Given the description of an element on the screen output the (x, y) to click on. 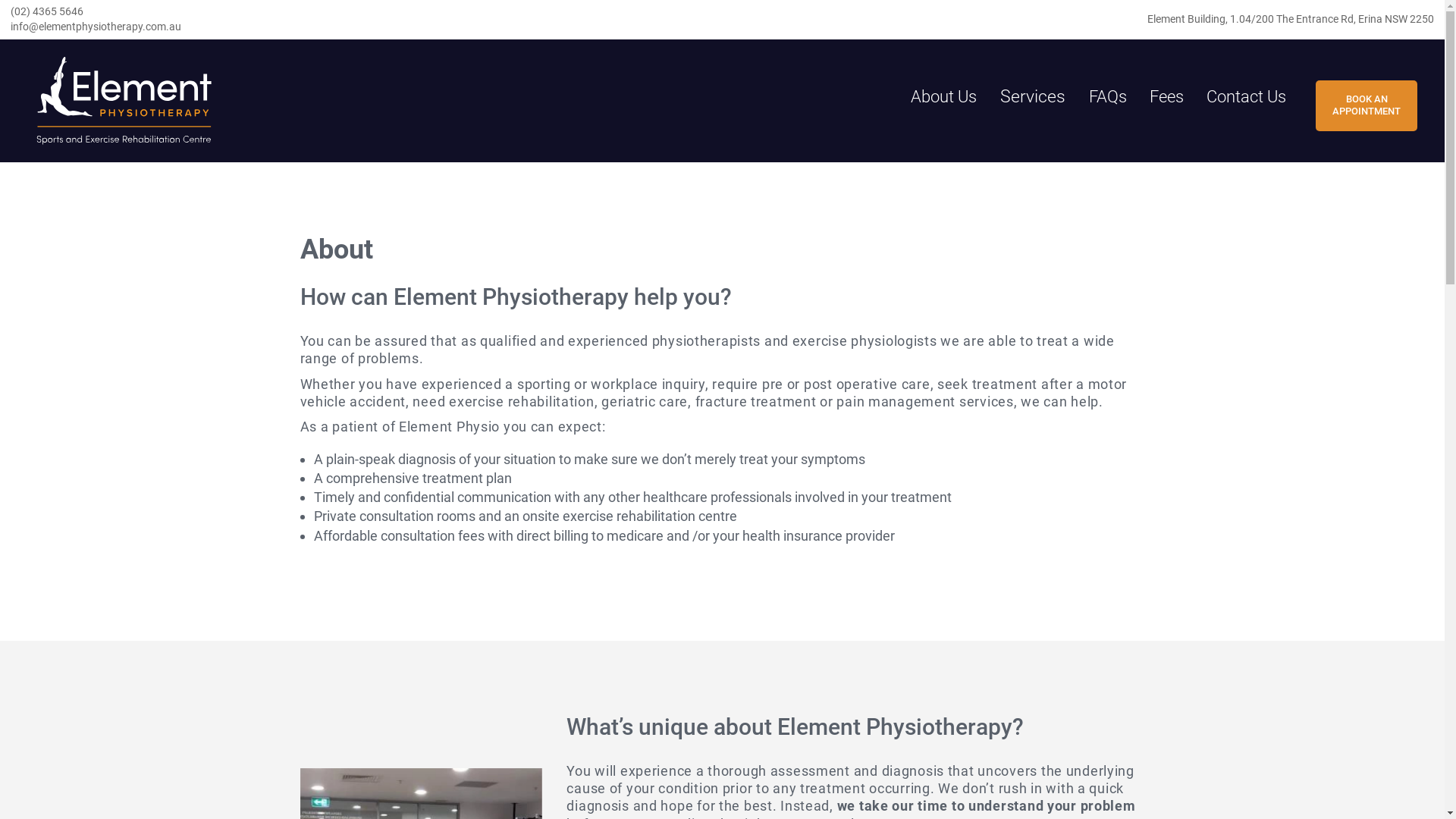
FAQs Element type: text (1107, 97)
Element Building, 1.04/200 The Entrance Rd, Erina NSW 2250 Element type: text (1289, 18)
Fees Element type: text (1166, 97)
(02) 4365 5646 Element type: text (361, 11)
Contact Us Element type: text (1246, 97)
About Us Element type: text (943, 97)
info@elementphysiotherapy.com.au Element type: text (361, 26)
BOOK AN
APPOINTMENT Element type: text (1366, 105)
